Given the description of an element on the screen output the (x, y) to click on. 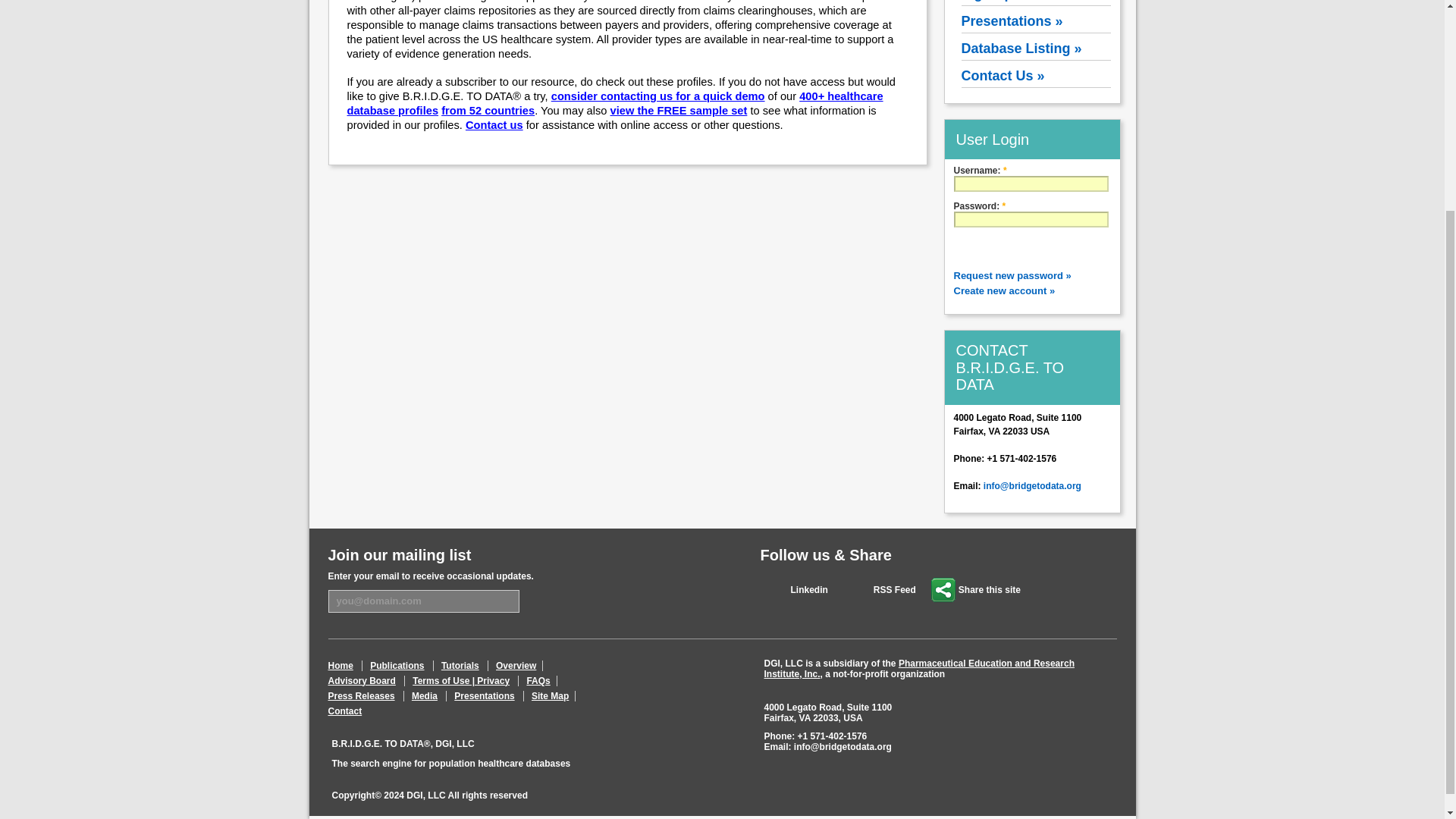
Submit (555, 599)
view the FREE sample set (679, 110)
Contact us (493, 124)
consider contacting us for a quick demo (658, 96)
from 52 countries (487, 110)
Send password reset instructions via email. (1012, 275)
Login (983, 246)
